Given the description of an element on the screen output the (x, y) to click on. 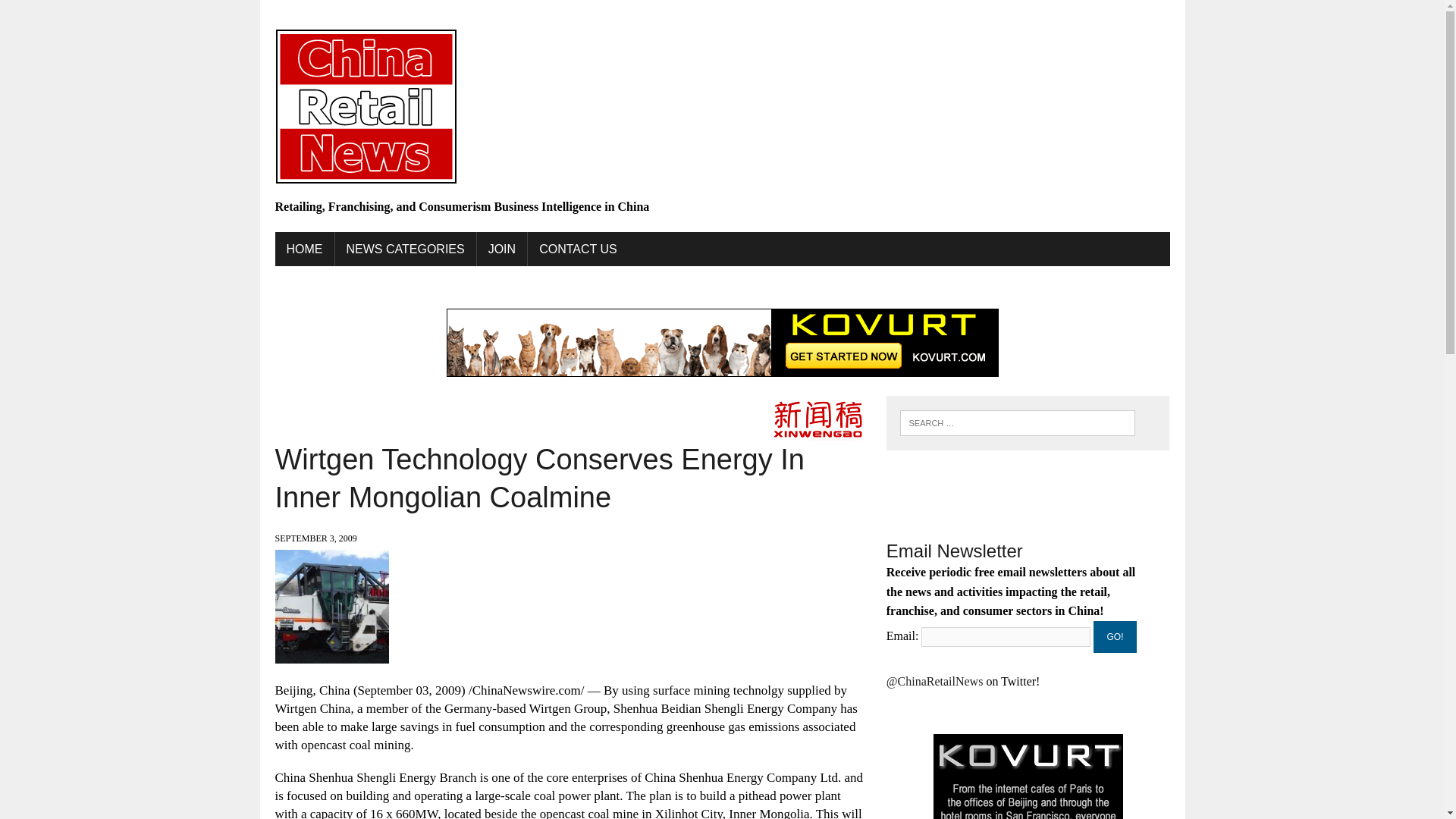
 GO!  (1115, 636)
Join (502, 248)
JOIN (502, 248)
Search (75, 14)
NEWS CATEGORIES (405, 248)
Wirtgen Surface Miner (331, 654)
Contact Us (577, 248)
CONTACT US (577, 248)
 GO!  (1115, 636)
